Given the description of an element on the screen output the (x, y) to click on. 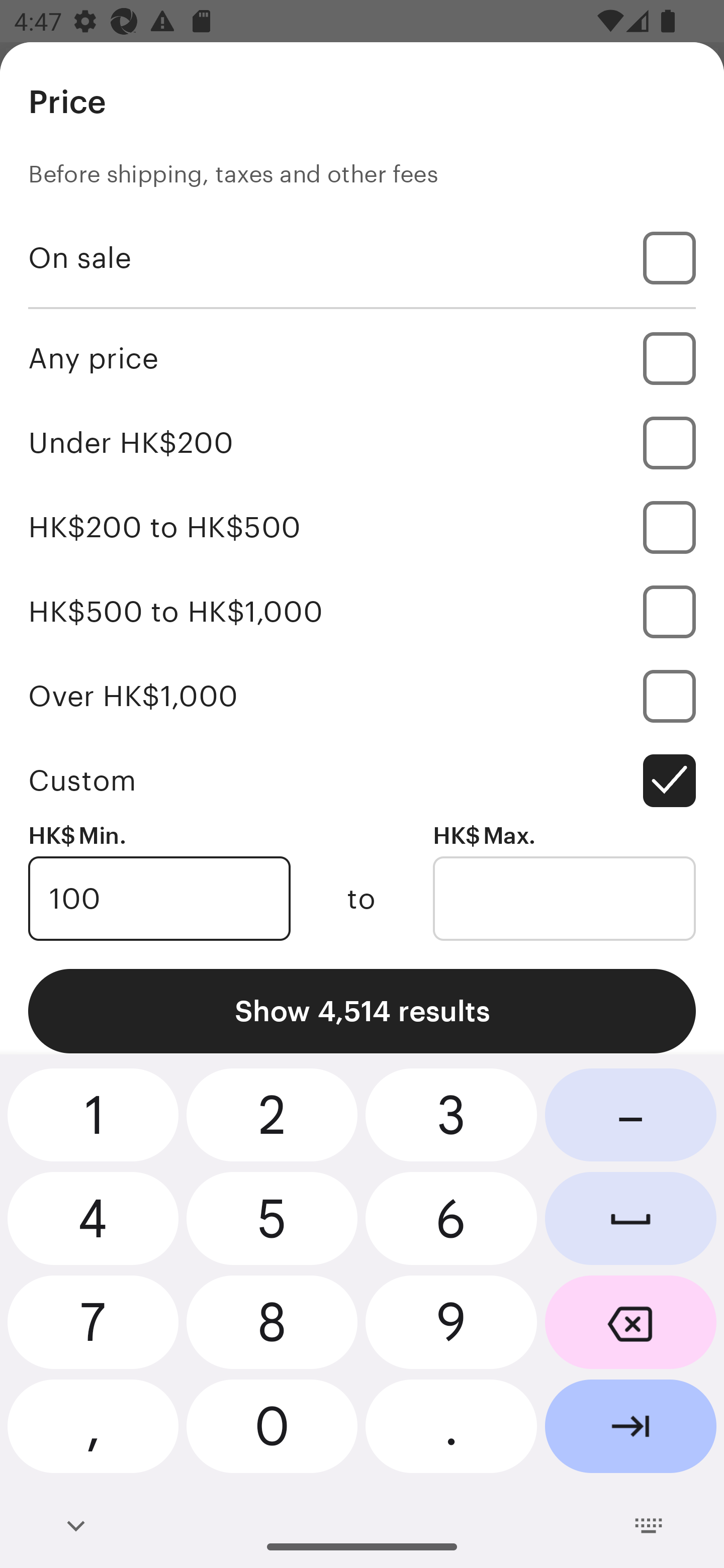
On sale (362, 257)
Any price (362, 357)
Under HK$200 (362, 441)
HK$200 to HK$500 (362, 526)
HK$500 to HK$1,000 (362, 611)
Over HK$1,000 (362, 695)
Custom (362, 780)
100 (159, 898)
Show 4,514 results (361, 1011)
